Given the description of an element on the screen output the (x, y) to click on. 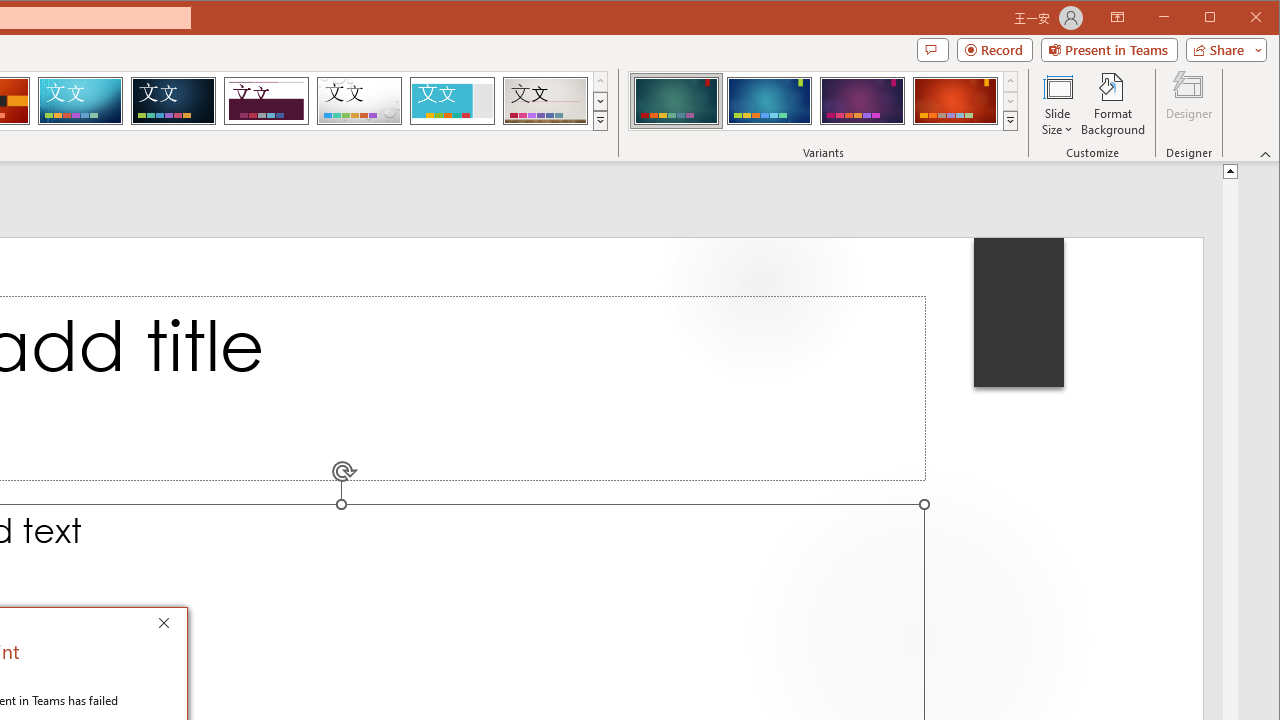
Variants (1010, 120)
Row Down (1010, 101)
Damask (173, 100)
Ion Variant 1 (676, 100)
Row up (1010, 81)
Circuit (80, 100)
Gallery (545, 100)
Droplet (359, 100)
Ion Variant 2 (769, 100)
Designer (1188, 104)
Dividend (266, 100)
Maximize (1238, 18)
